Given the description of an element on the screen output the (x, y) to click on. 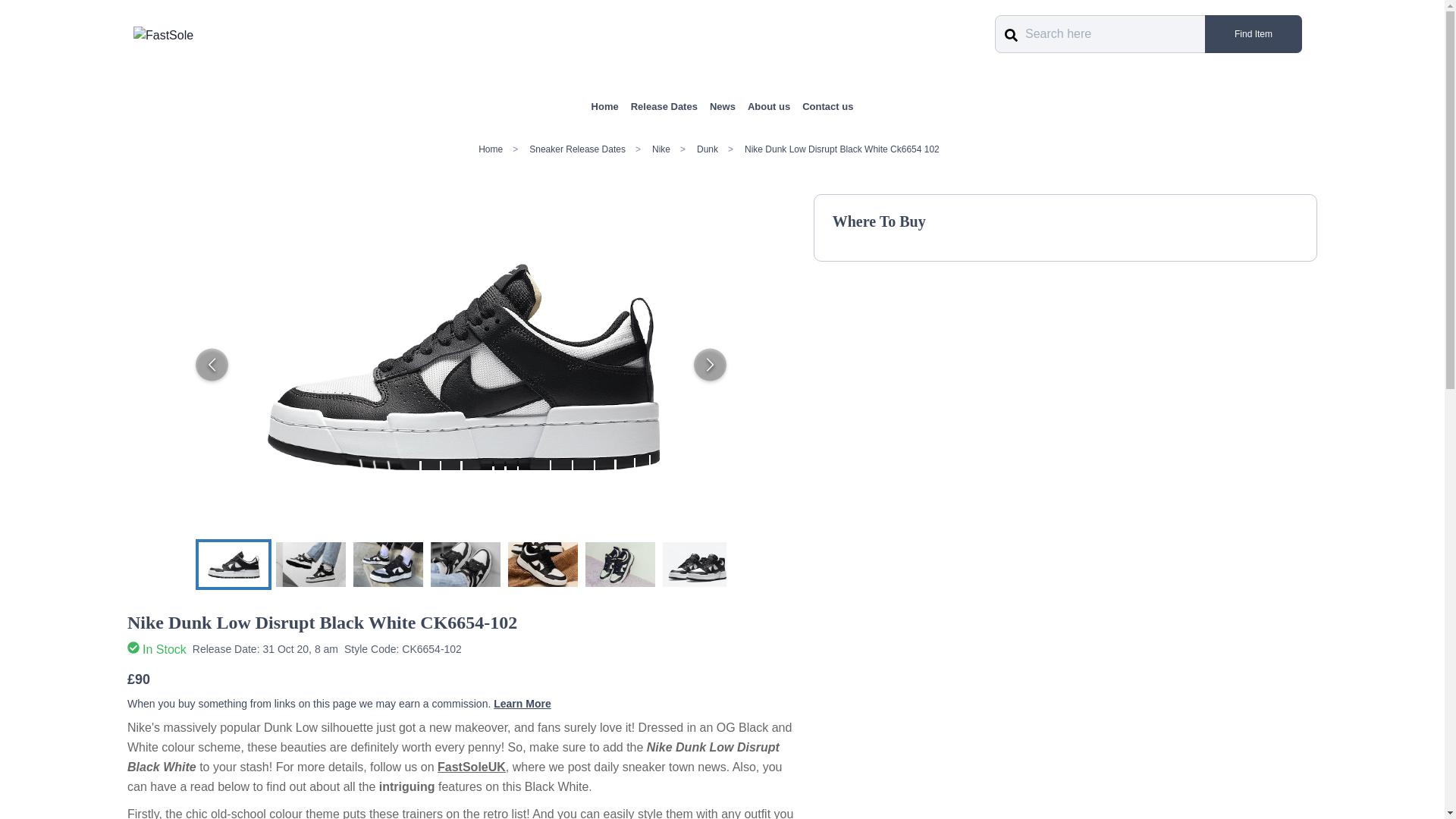
Nike Dunk Low Disrupt Black White CK6654-102 on foot 03 (465, 563)
Home (604, 106)
FastSole (163, 35)
Nike Dunk Low Disrupt Black White CK6654-102 03 (620, 563)
Nike Dunk Low Disrupt Black White CK6654-102 01 (232, 563)
Nike Dunk Low Disrupt Black White CK6654-102 on foot 01 (388, 563)
Find Item (1253, 34)
Nike Dunk Low Disrupt Black White CK6654-102 07 (543, 563)
Nike Dunk Low Disrupt Black White CK6654-102 on foot 02 (311, 563)
